Given the description of an element on the screen output the (x, y) to click on. 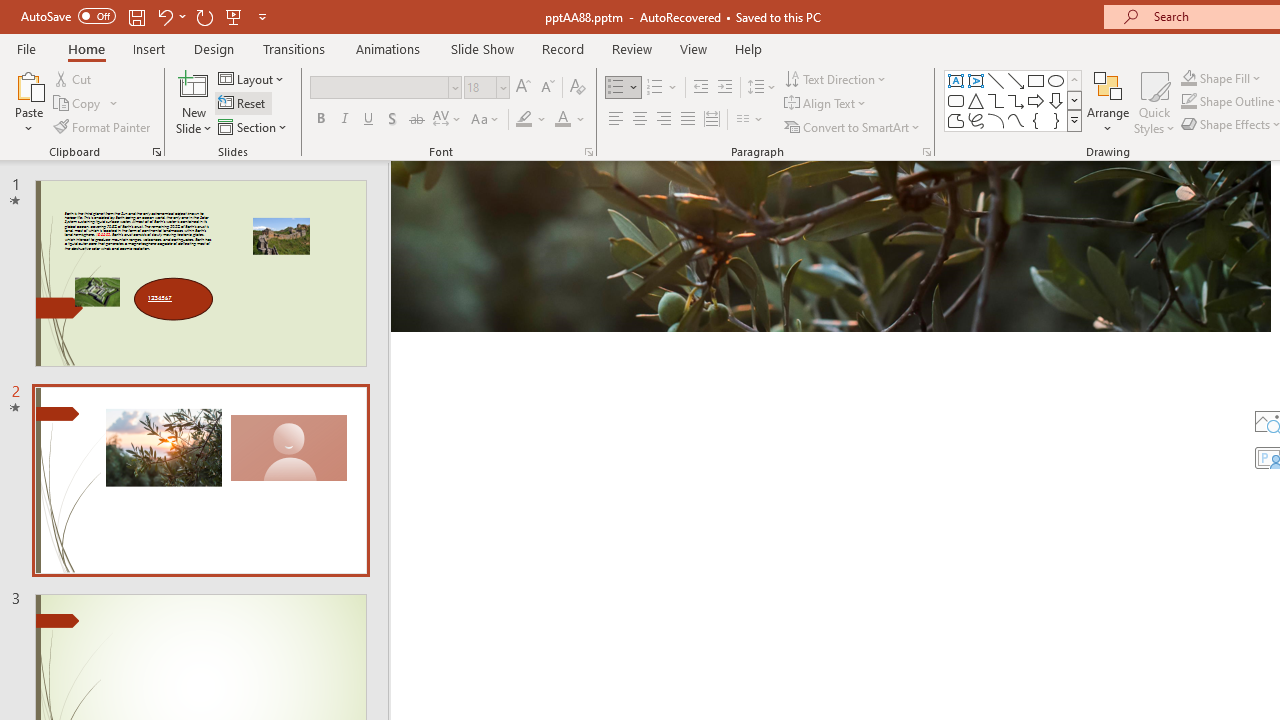
Shape Outline Teal, Accent 1 (1188, 101)
